Given the description of an element on the screen output the (x, y) to click on. 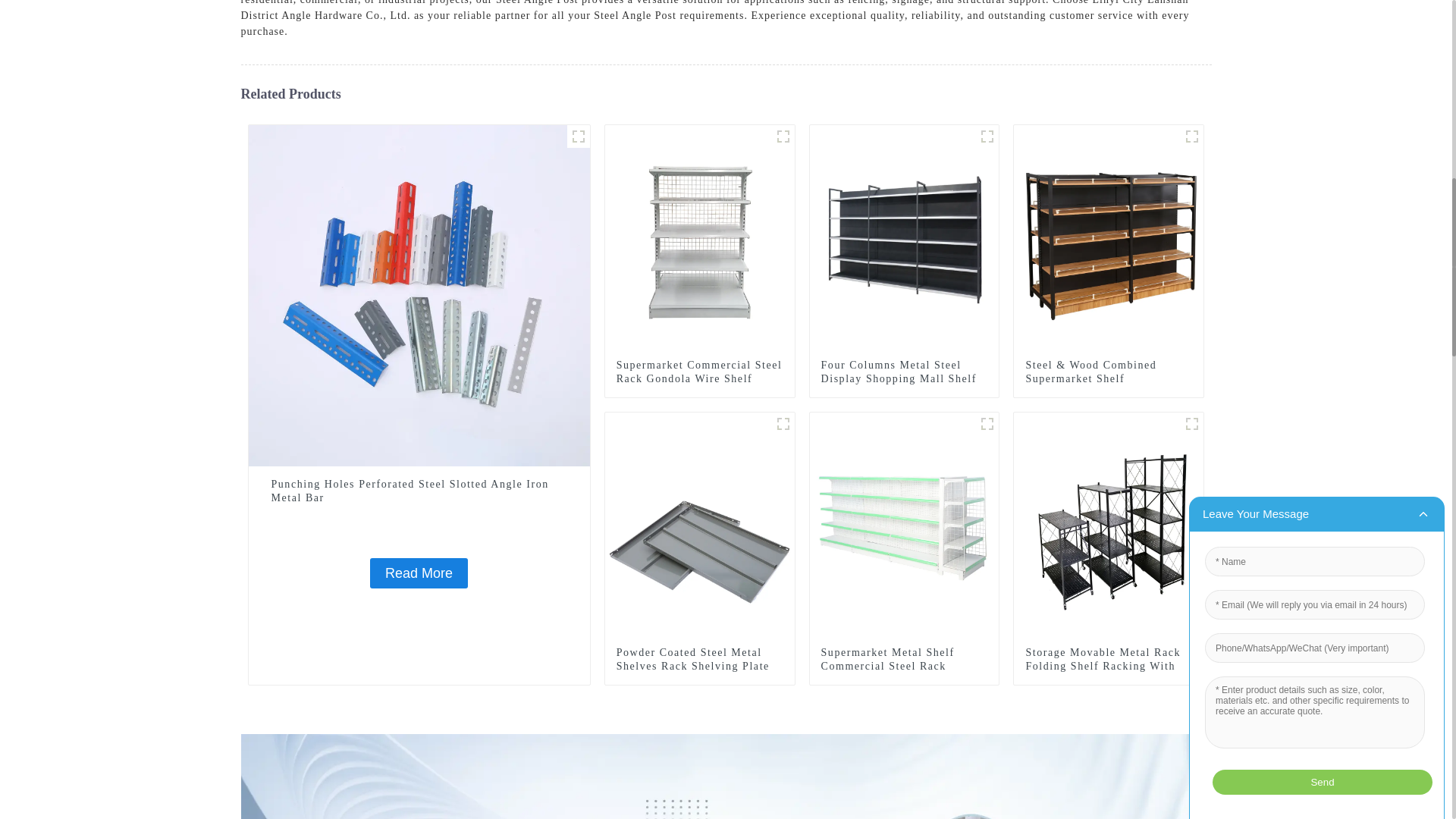
 Supermarket Commercial Steel Rack Gondola Wire Shelf (699, 238)
Punching Holes Perforated Steel Slotted Angle Iron Metal Bar (418, 491)
Punching Holes Perforated Steel Slotted Angle Iron Metal Bar (418, 491)
Four Columns Metal Steel Display Shopping Mall Shelf Racking (904, 378)
p1 (782, 423)
Supermarket Commercial Steel Rack Gondola Wire Shelf (699, 371)
Powder Coated  Steel Metal Shelves Rack Shelving Plate (699, 659)
 Supermarket Commercial Steel Rack Gondola Wire Shelf (699, 371)
Punching Holes Perforated Steel Slotted Angle Iron Metal Bar (418, 572)
Angle Steel (578, 136)
Punching Holes Perforated Steel Slotted Angle Iron Metal Bar (418, 295)
Four Columns Metal Steel Display Shopping Mall Shelf Racking (903, 238)
Read More (418, 572)
